Given the description of an element on the screen output the (x, y) to click on. 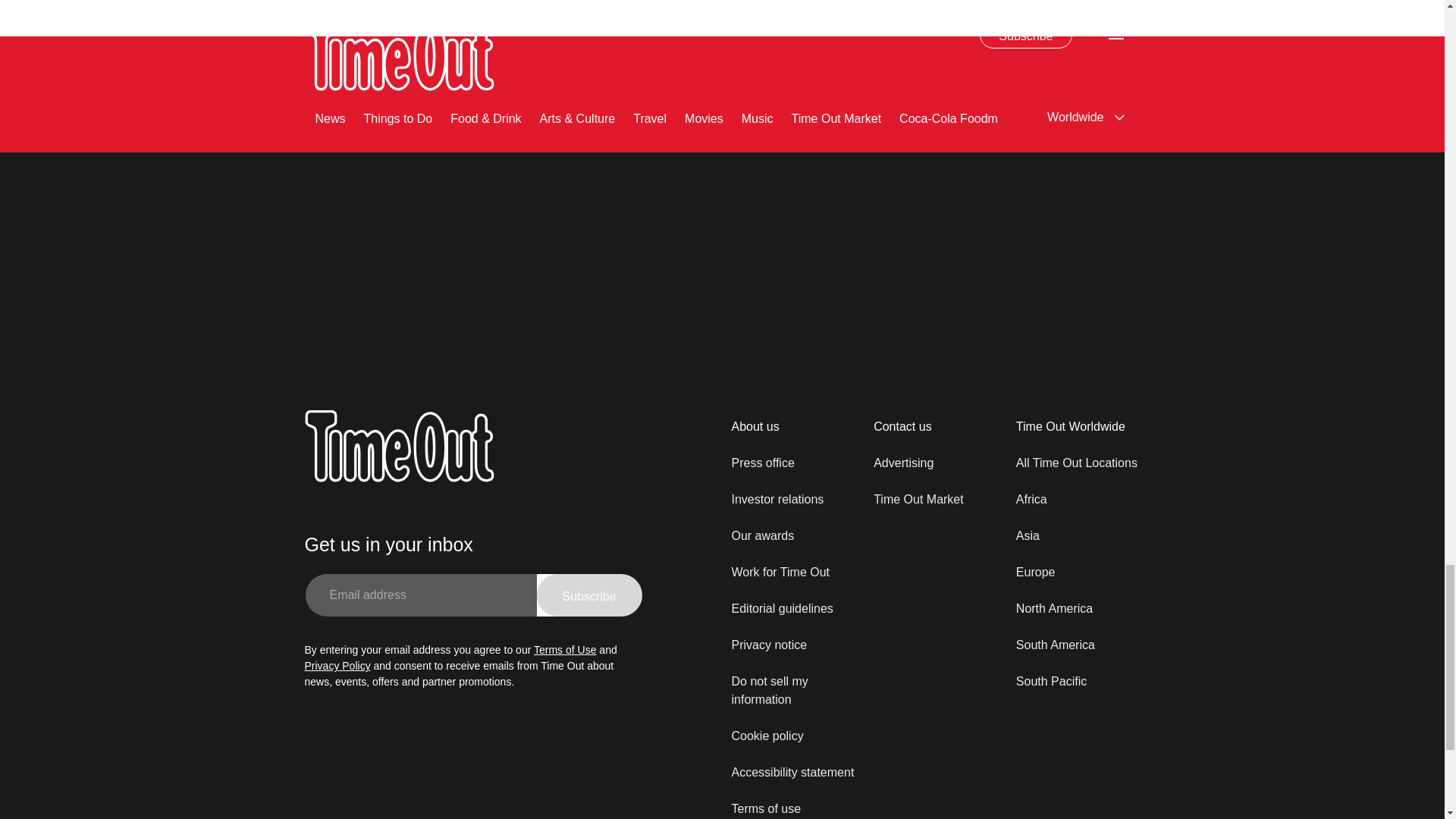
Subscribe (802, 8)
Subscribe (589, 595)
